Given the description of an element on the screen output the (x, y) to click on. 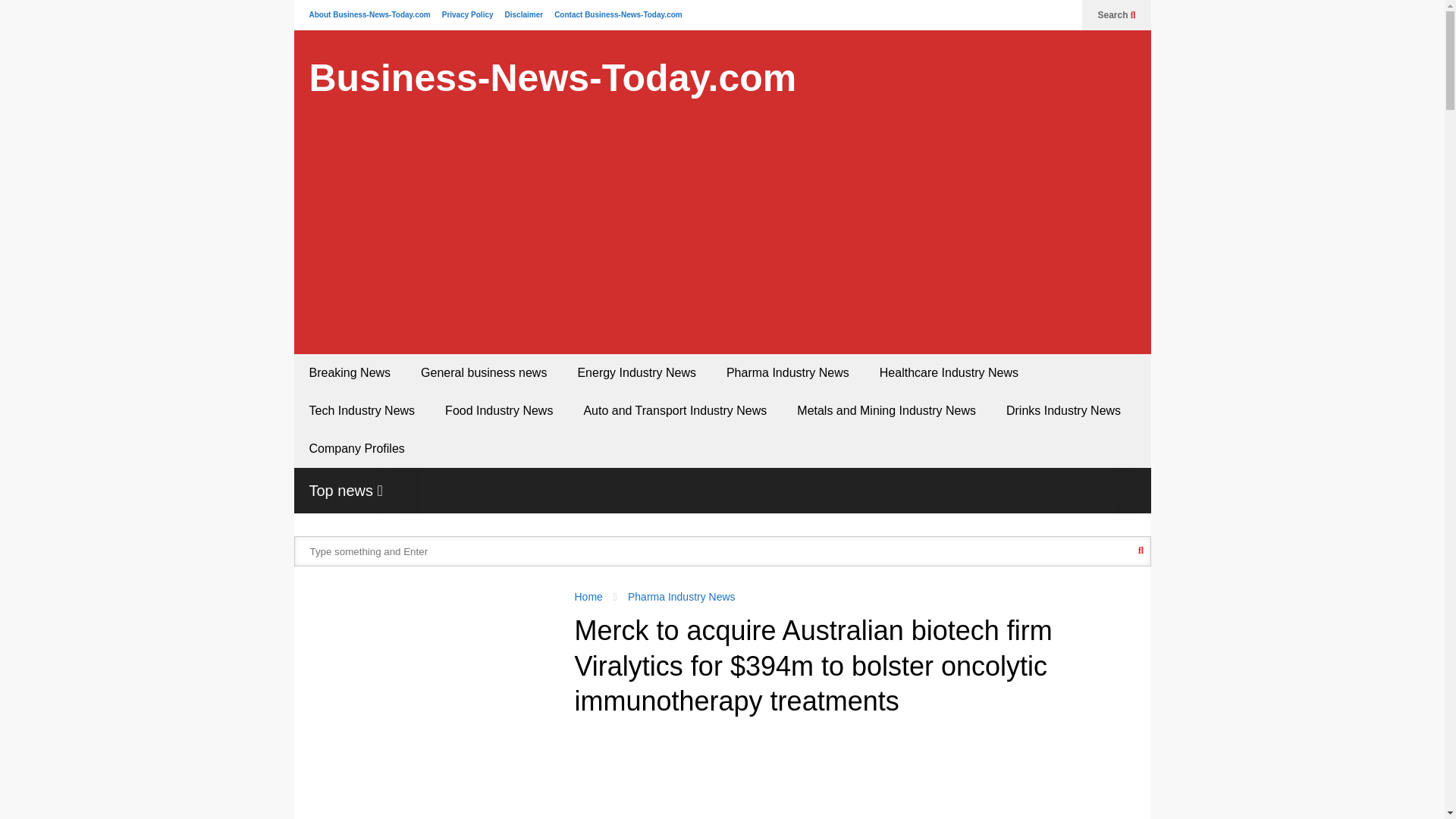
General business news (484, 372)
Food Industry News (498, 410)
Contact Business-News-Today.com (618, 14)
Drinks Industry News (1063, 410)
Healthcare Industry News (948, 372)
Privacy Policy (467, 14)
HOTEL INDUSTRY NEWS (1190, 490)
Search (1116, 15)
Pharma Industry News (787, 372)
Metals and Mining Industry News (886, 410)
